Given the description of an element on the screen output the (x, y) to click on. 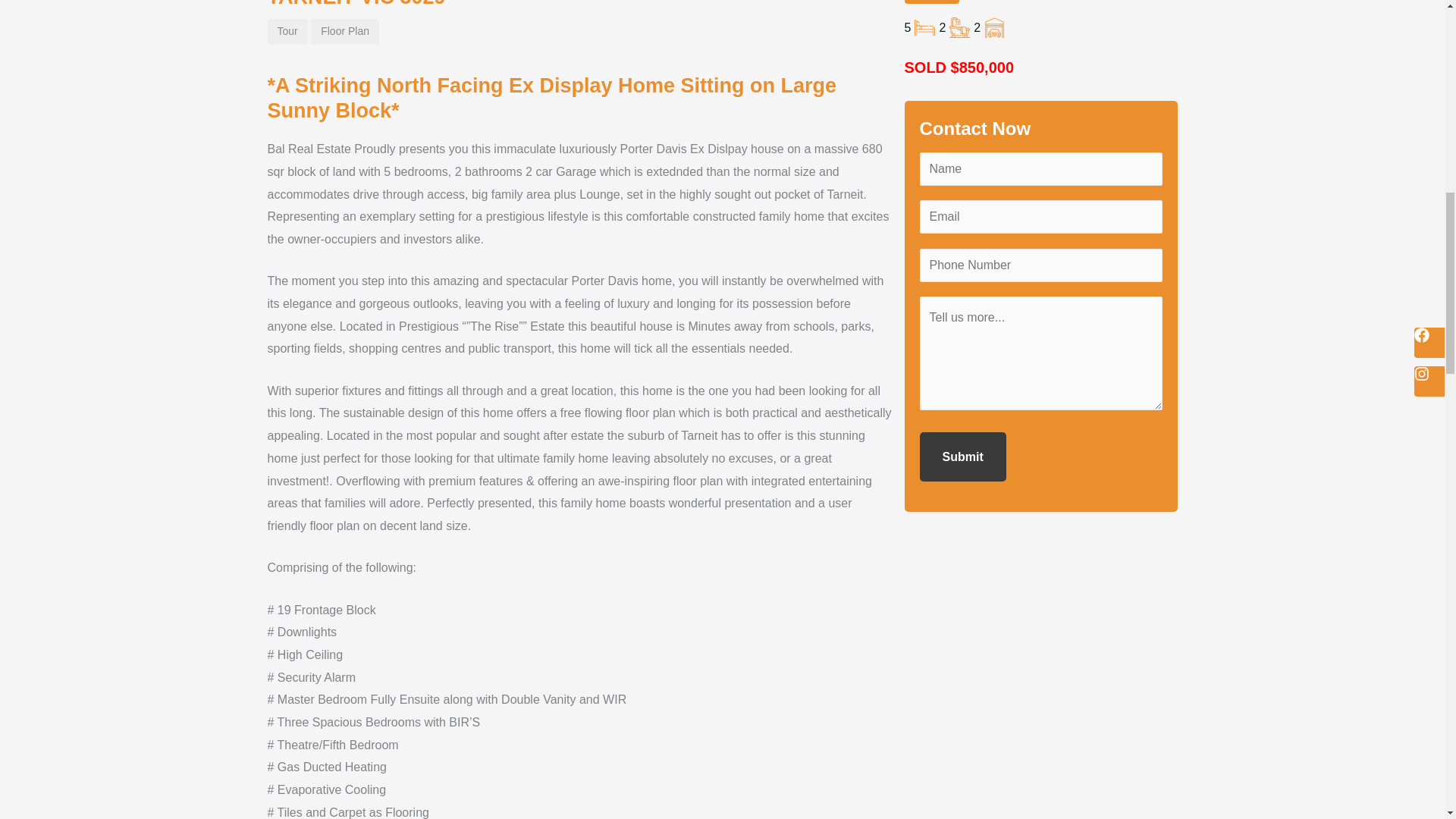
Submit (962, 457)
Submit (962, 457)
Tour (286, 31)
Floor Plan (344, 31)
